Given the description of an element on the screen output the (x, y) to click on. 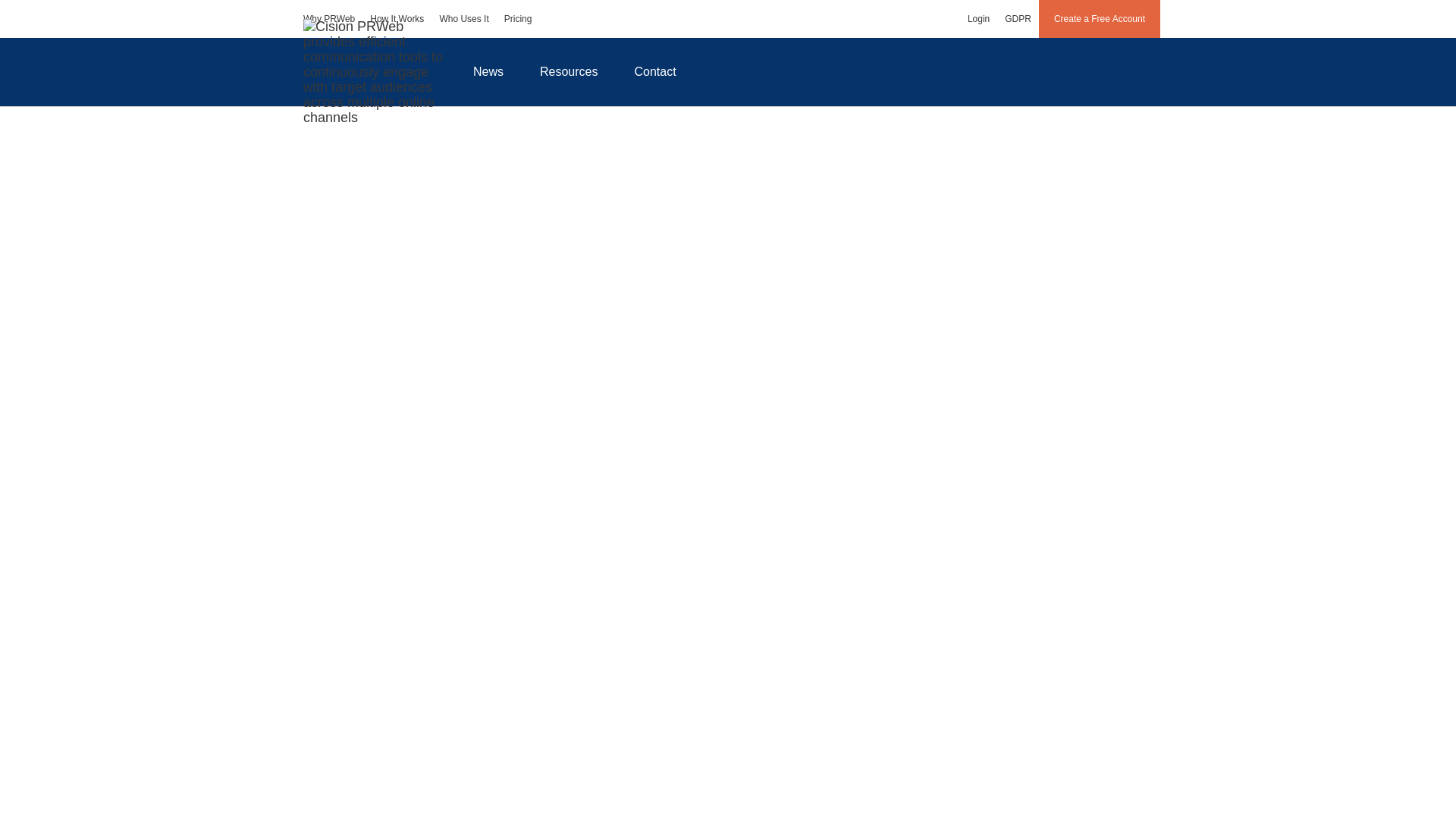
Create a Free Account (1099, 18)
Login (978, 18)
Who Uses It (463, 18)
News (487, 71)
Why PRWeb (328, 18)
Contact (654, 71)
GDPR (1018, 18)
Resources (568, 71)
Pricing (518, 18)
How It Works (396, 18)
